Given the description of an element on the screen output the (x, y) to click on. 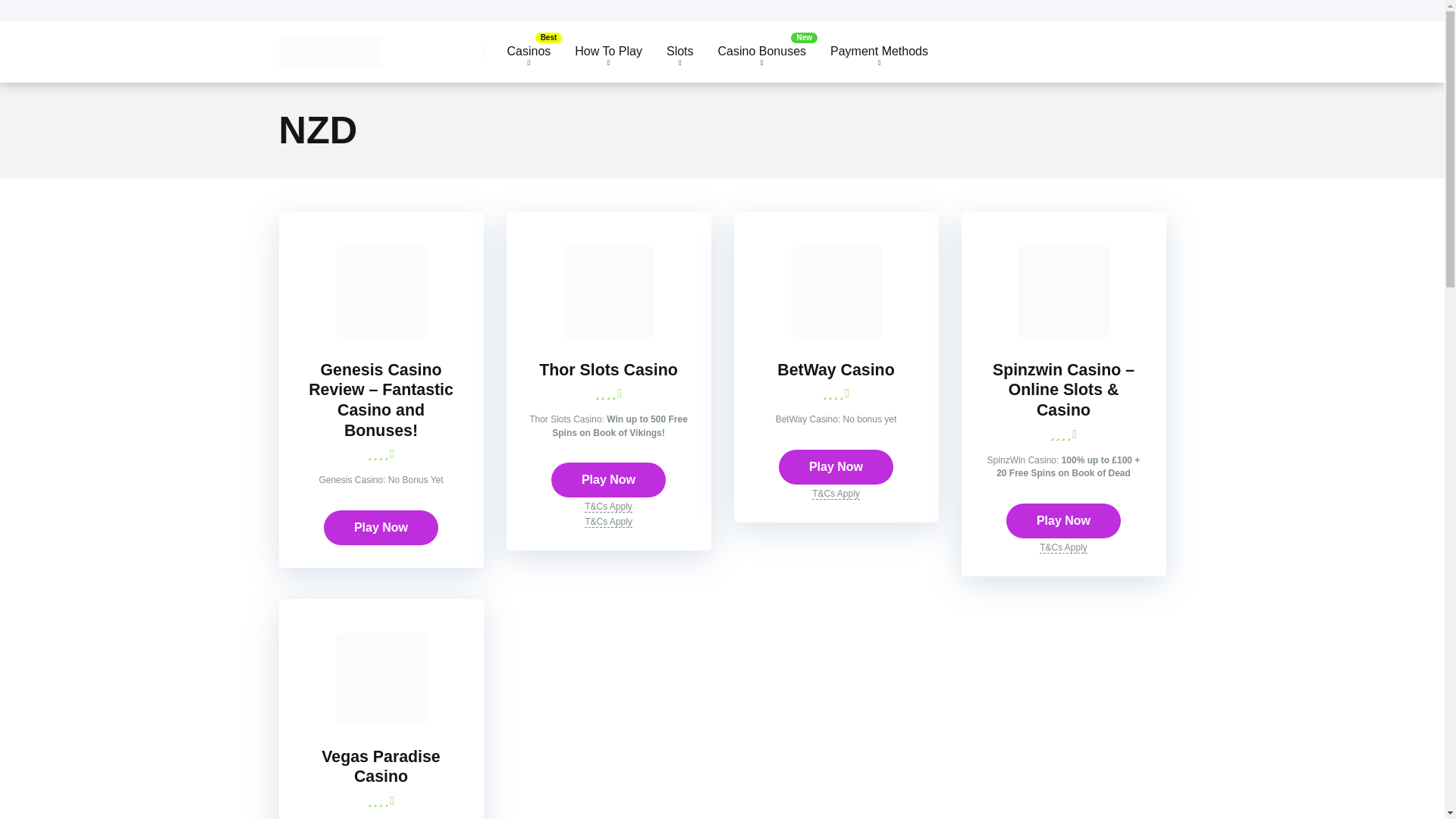
Play Now (380, 527)
How To Play (607, 52)
Thor Slots Casino (607, 370)
Casinos (528, 52)
Thor Slots Casino (607, 332)
Casino Bonuses (762, 52)
Play Now (1063, 520)
BetWay Casino (835, 370)
Play Now (835, 466)
Play Now (608, 479)
Thor Slots Casino (607, 370)
Play Now (380, 527)
cogamblers (329, 46)
BetWay Casino (835, 370)
Play Now (608, 479)
